Given the description of an element on the screen output the (x, y) to click on. 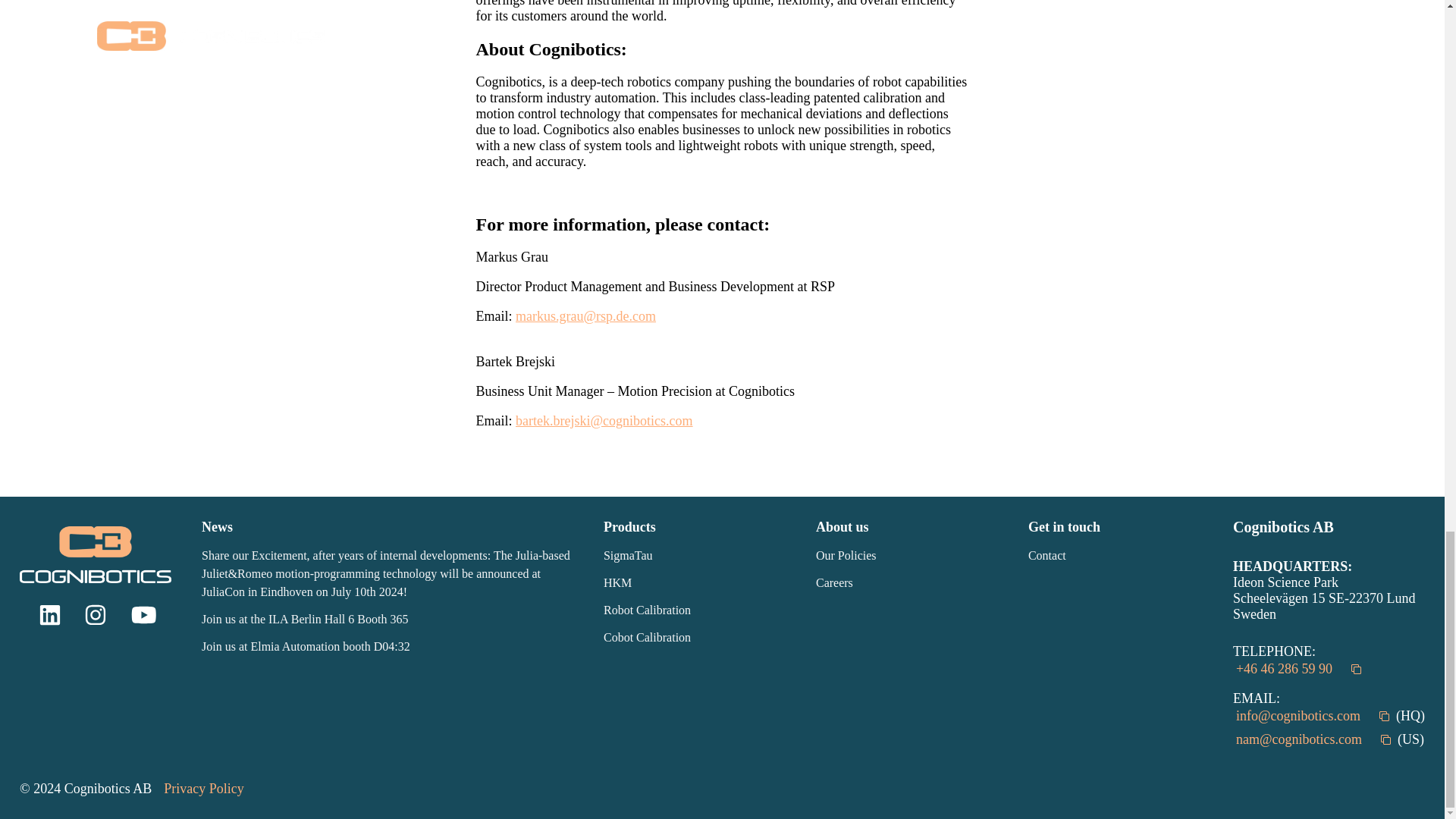
HKM (698, 583)
Cobot Calibration (698, 637)
Robot Calibration (698, 610)
Join us at the ILA Berlin Hall 6 Booth 365 (391, 619)
Join us at Elmia Automation booth D04:32 (391, 647)
Careers (910, 583)
Products (698, 526)
Contact (1122, 556)
SigmaTau (698, 556)
About us (910, 526)
